Given the description of an element on the screen output the (x, y) to click on. 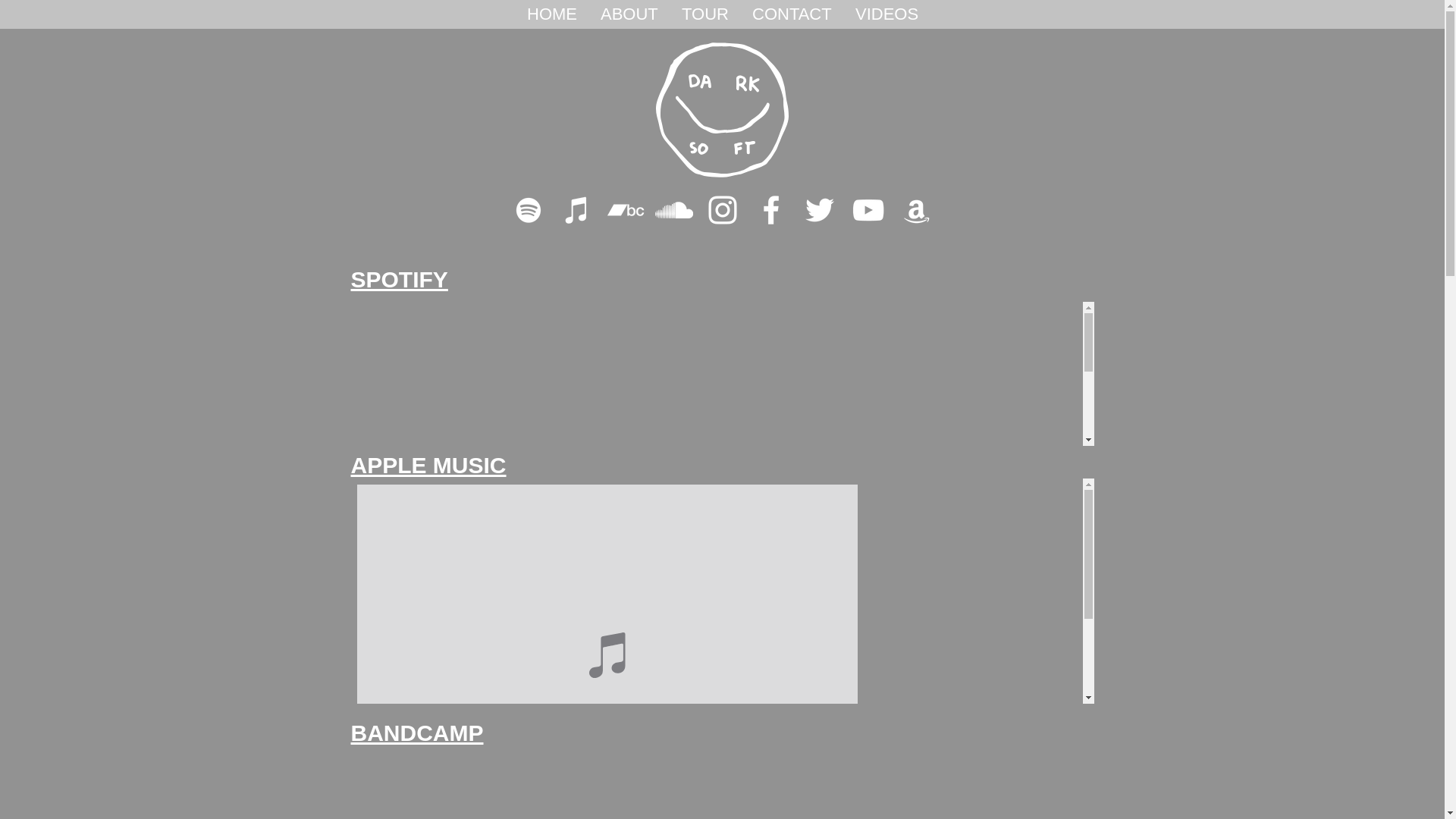
HOME Element type: text (551, 14)
APPLE MUSIC Element type: text (427, 464)
BANDCAMP Element type: text (416, 732)
SPOTIFY Element type: text (398, 278)
CONTACT Element type: text (791, 14)
VIDEOS Element type: text (886, 14)
TOUR Element type: text (704, 14)
Embedded Content Element type: hover (721, 590)
Embedded Content Element type: hover (721, 373)
ABOUT Element type: text (628, 14)
